Given the description of an element on the screen output the (x, y) to click on. 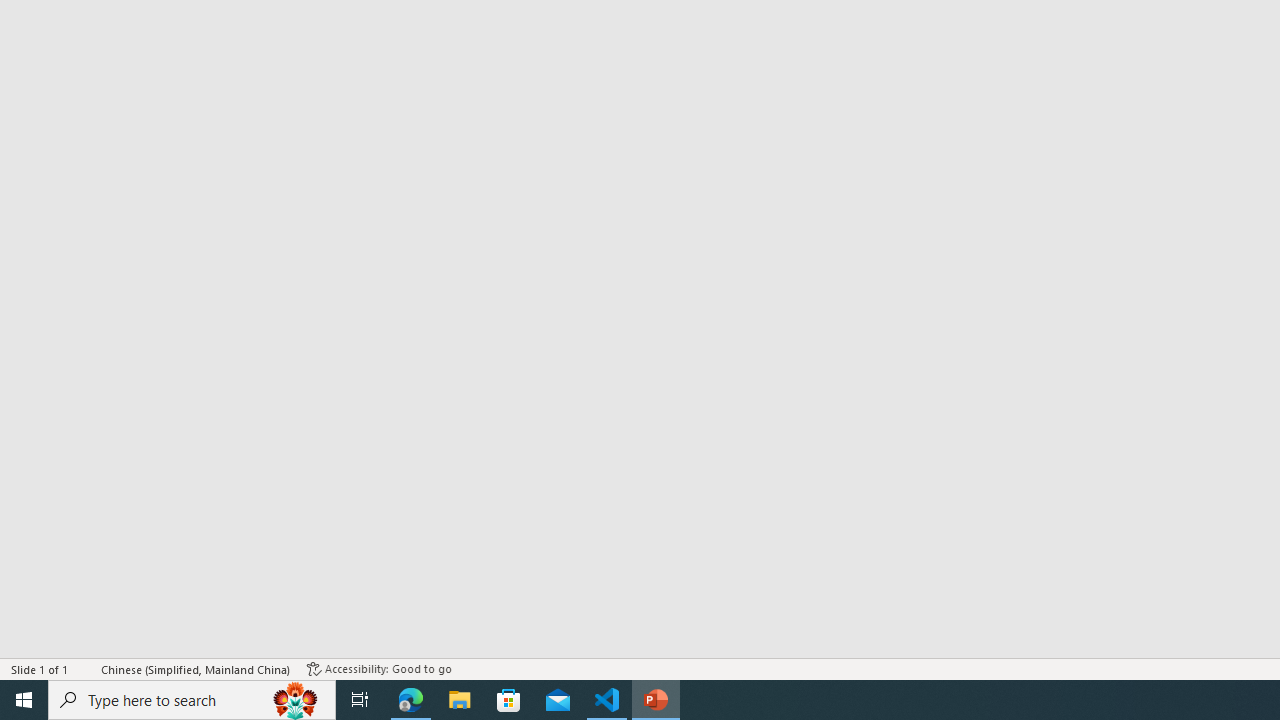
Accessibility Checker Accessibility: Good to go (379, 668)
Spell Check  (86, 668)
